Given the description of an element on the screen output the (x, y) to click on. 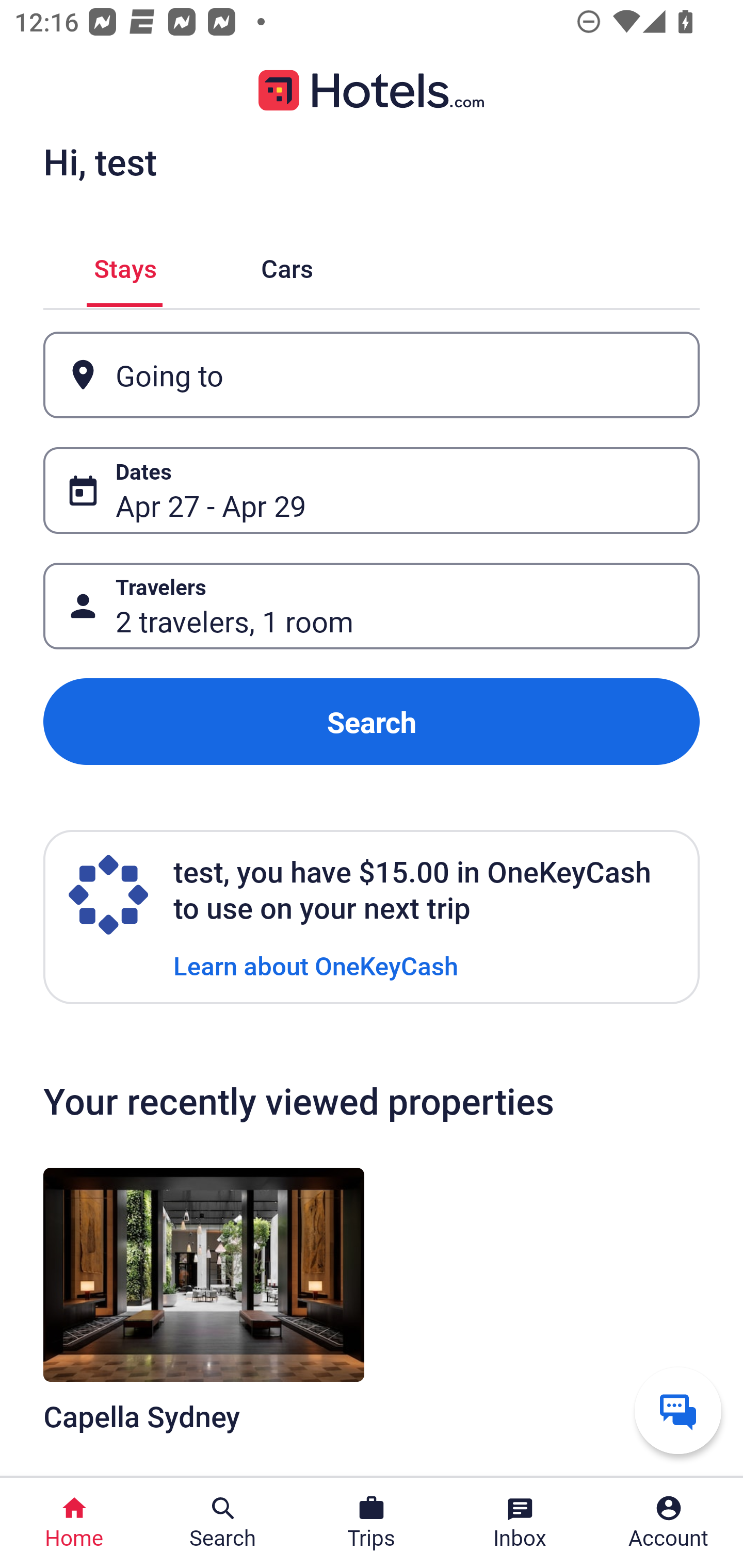
Hi, test (99, 161)
Cars (286, 265)
Going to Button (371, 375)
Dates Button Apr 27 - Apr 29 (371, 489)
Travelers Button 2 travelers, 1 room (371, 605)
Search (371, 721)
Learn about OneKeyCash Learn about OneKeyCash Link (315, 964)
Capella Sydney (203, 1310)
Get help from a virtual agent (677, 1410)
Search Search Button (222, 1522)
Trips Trips Button (371, 1522)
Inbox Inbox Button (519, 1522)
Account Profile. Button (668, 1522)
